Given the description of an element on the screen output the (x, y) to click on. 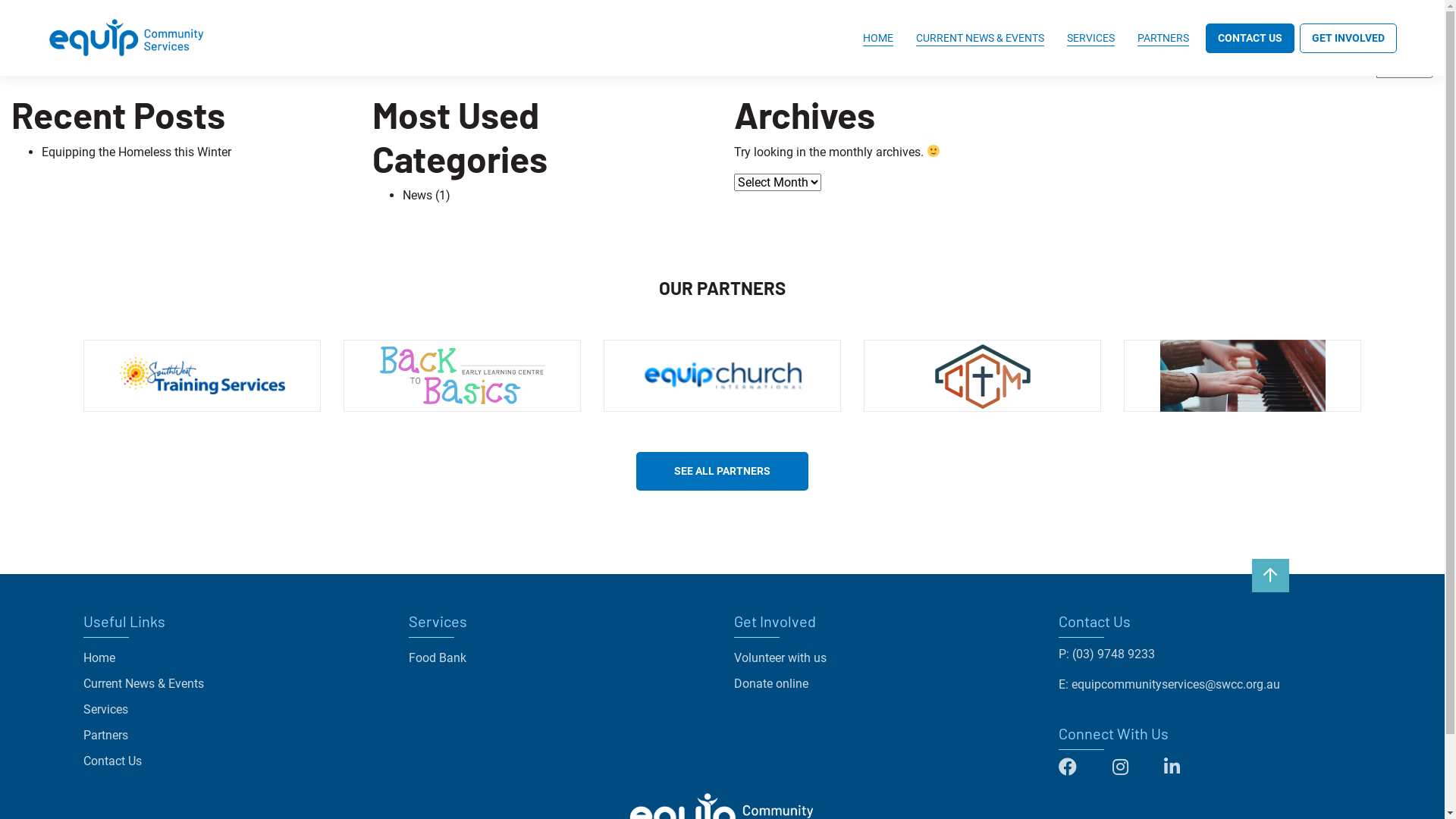
SERVICES Element type: text (1090, 38)
Equip Community Services Element type: hover (127, 37)
P: (03) 9748 9233 Element type: text (1106, 654)
HOME Element type: text (877, 38)
Services Element type: text (105, 709)
Contact Us Element type: text (112, 761)
Home Element type: text (99, 658)
Equip Church International Element type: hover (721, 378)
Volunteer with us Element type: text (780, 658)
Current News & Events Element type: text (143, 683)
CONTACT US Element type: text (1249, 37)
GET INVOLVED Element type: text (1347, 37)
PARTNERS Element type: text (1163, 38)
E: equipcommunityservices@swcc.org.au Element type: text (1169, 684)
Back to Basics Element type: hover (461, 378)
Partners Element type: text (105, 735)
Equip Music School Element type: hover (1242, 378)
Donate online Element type: text (771, 683)
SEE ALL PARTNERS Element type: text (722, 470)
Equipping the Homeless this Winter Element type: text (136, 152)
News Element type: text (417, 195)
Search Element type: text (1404, 63)
South West Training Services Element type: hover (201, 378)
Food Bank Element type: text (437, 658)
Christ Centred Ministry Element type: hover (982, 378)
CURRENT NEWS & EVENTS Element type: text (980, 38)
